Given the description of an element on the screen output the (x, y) to click on. 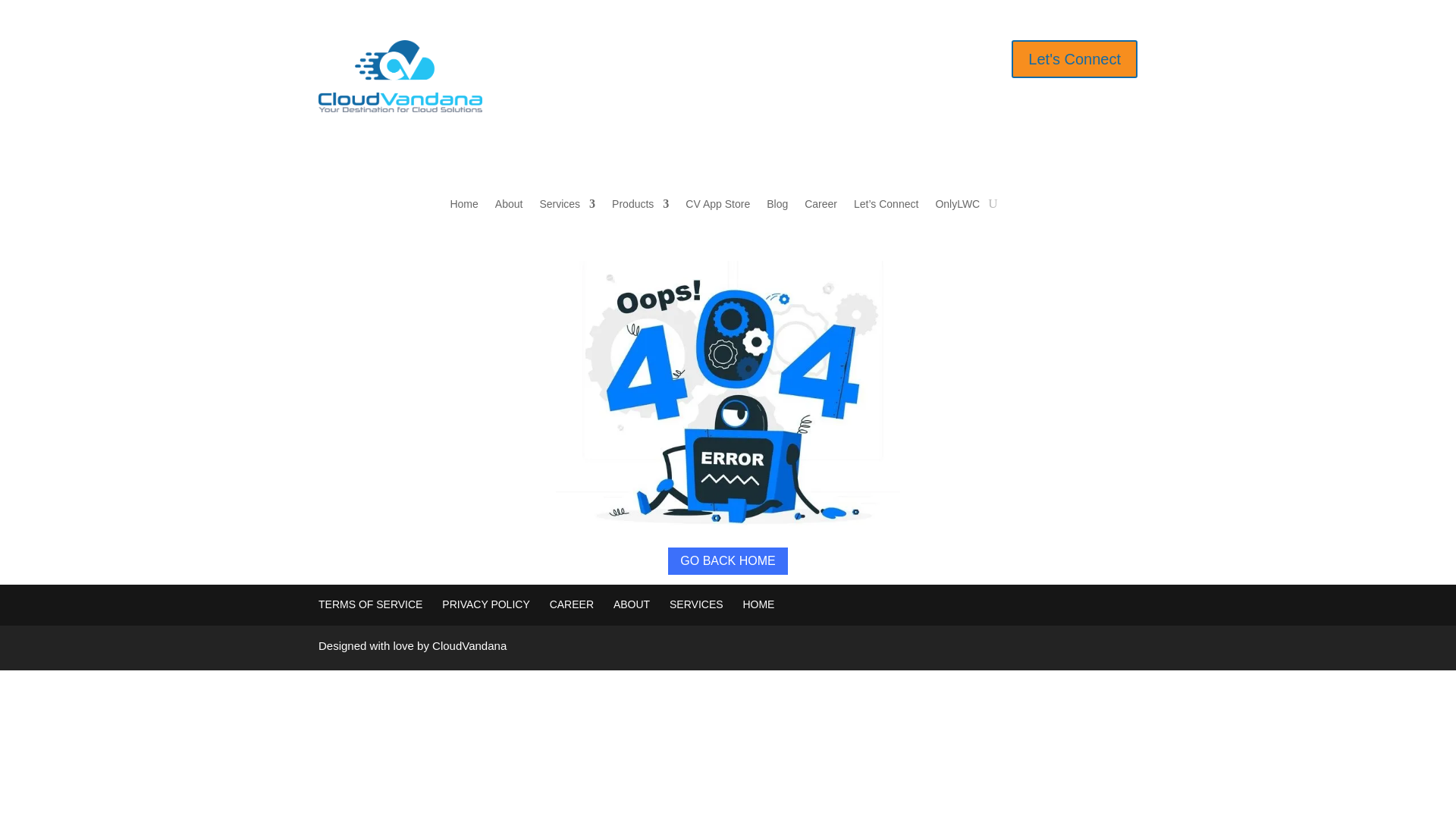
logo (399, 76)
CV App Store (717, 207)
Follow on LinkedIn (757, 52)
Products (639, 207)
Let's Connect (1074, 58)
Career (821, 207)
About (508, 207)
Blog (777, 207)
Follow on Facebook (697, 52)
Home (463, 207)
